Given the description of an element on the screen output the (x, y) to click on. 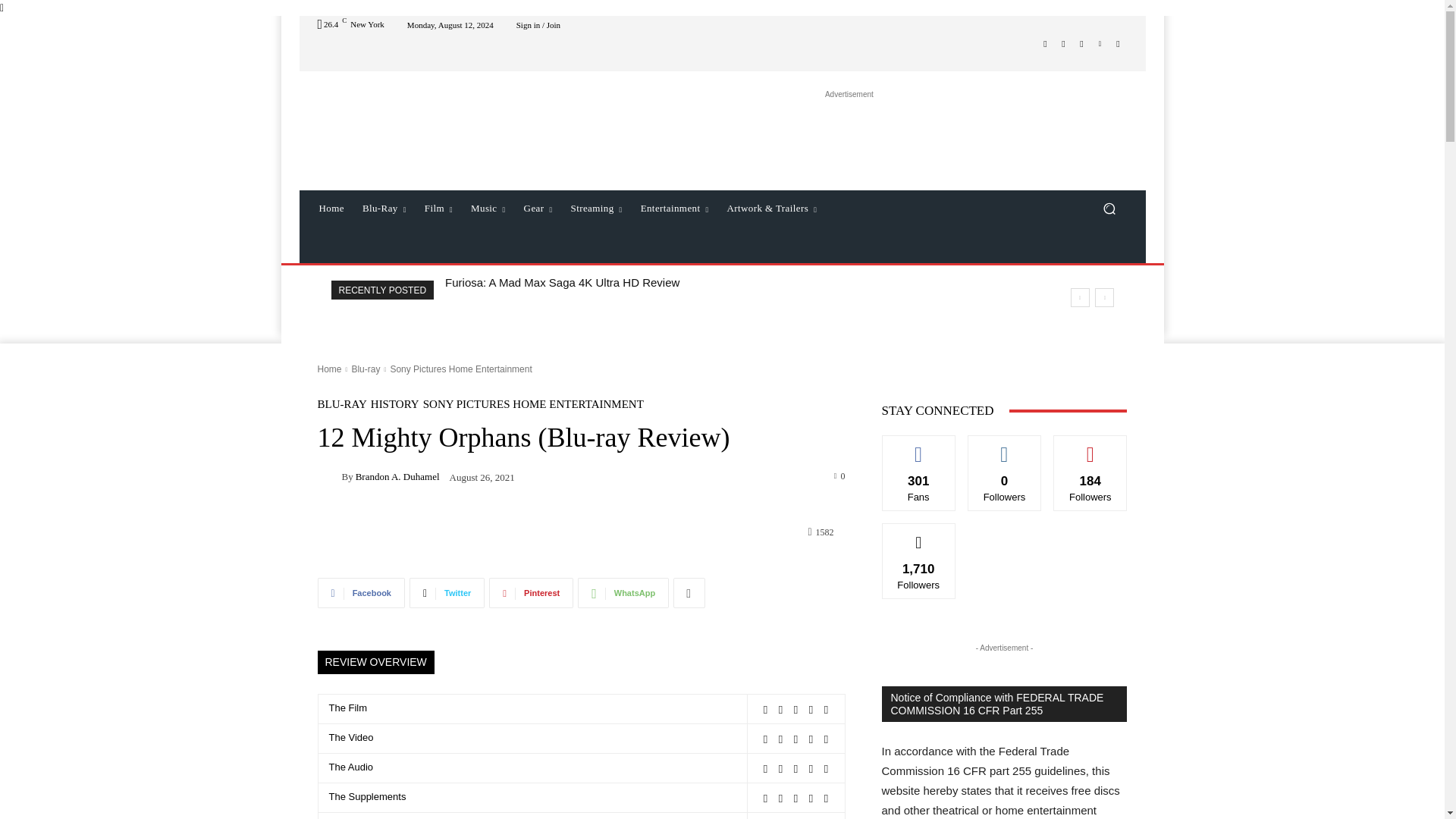
Twitter (1080, 44)
Instagram (1062, 44)
Youtube (1117, 44)
Facebook (1044, 44)
Furiosa: A Mad Max Saga 4K Ultra HD Review (562, 282)
Vimeo (1099, 44)
